Given the description of an element on the screen output the (x, y) to click on. 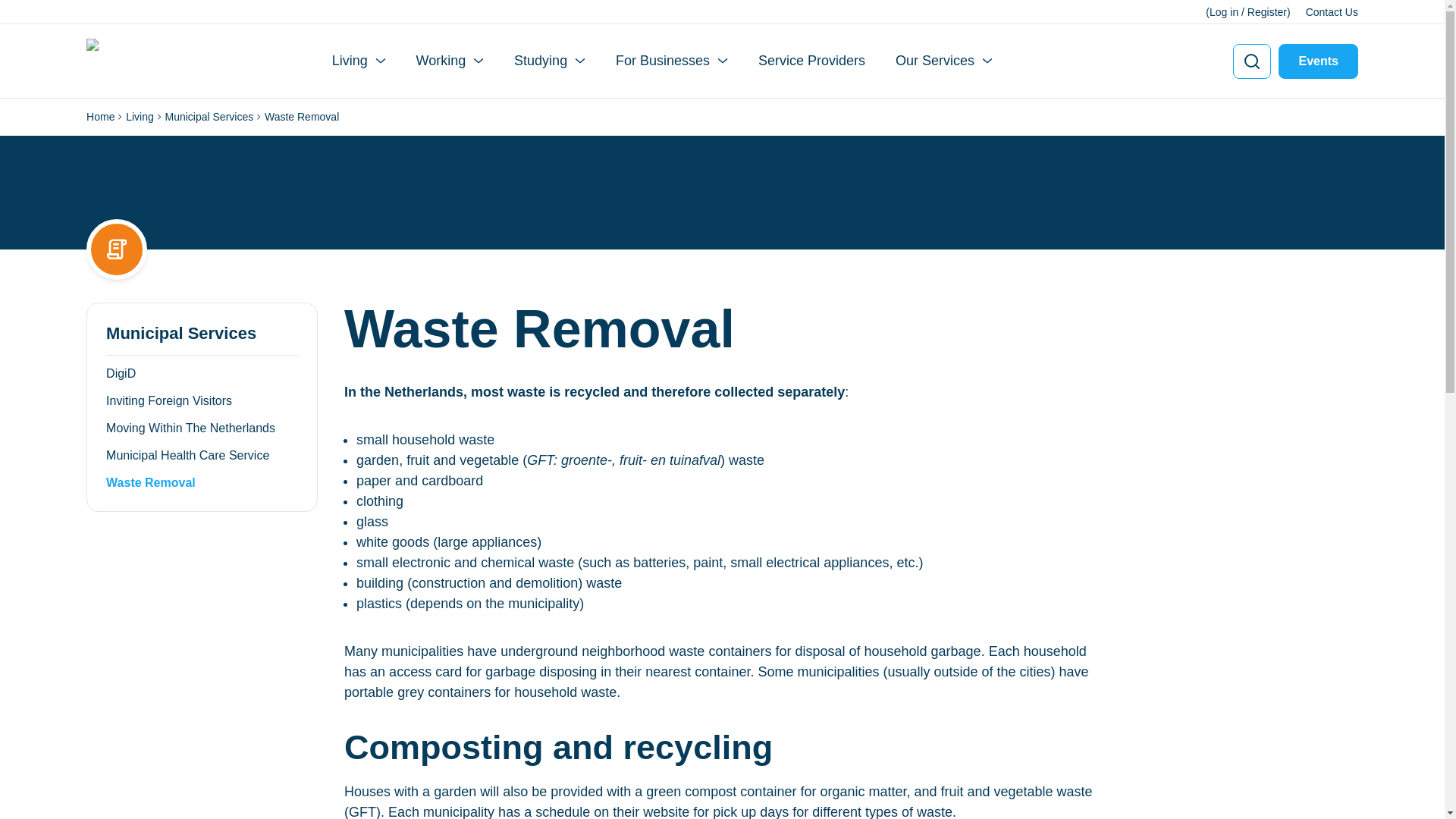
Contact Us (1332, 12)
Working (450, 60)
Living (358, 60)
Register (1267, 12)
Studying (549, 60)
Log in (1224, 12)
